Given the description of an element on the screen output the (x, y) to click on. 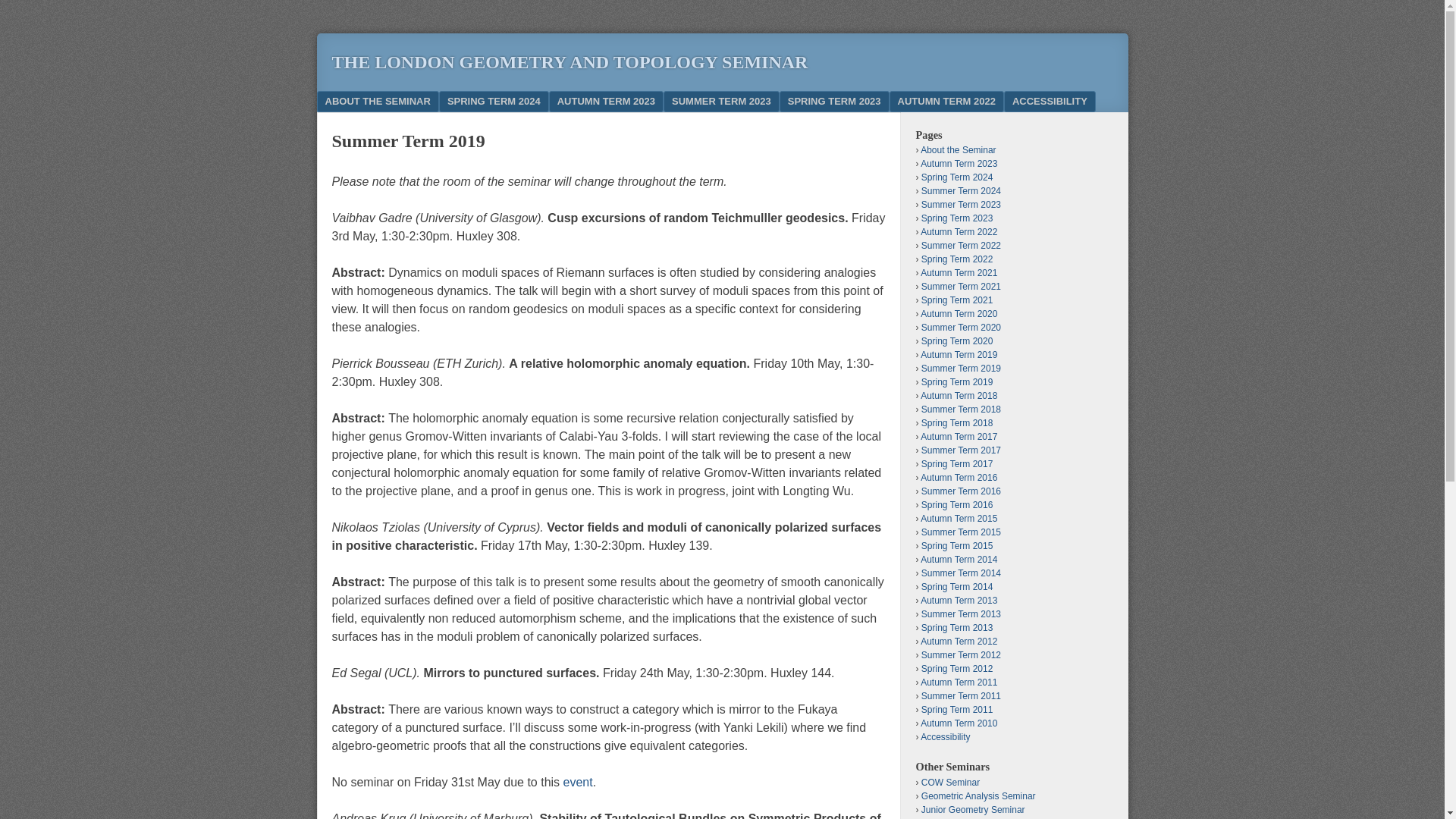
Autumn Term 2018 (958, 395)
Summer Term 2023 (961, 204)
ACCESSIBILITY (1050, 101)
Summer Term 2016 (961, 491)
Autumn Term 2019 (958, 354)
The London Geometry and Topology Seminar (569, 62)
Summer Term 2015 (961, 532)
Imperial Junior Geometry Seminar (973, 809)
Autumn Term 2015 (958, 518)
Summer Term 2024 (961, 190)
